Given the description of an element on the screen output the (x, y) to click on. 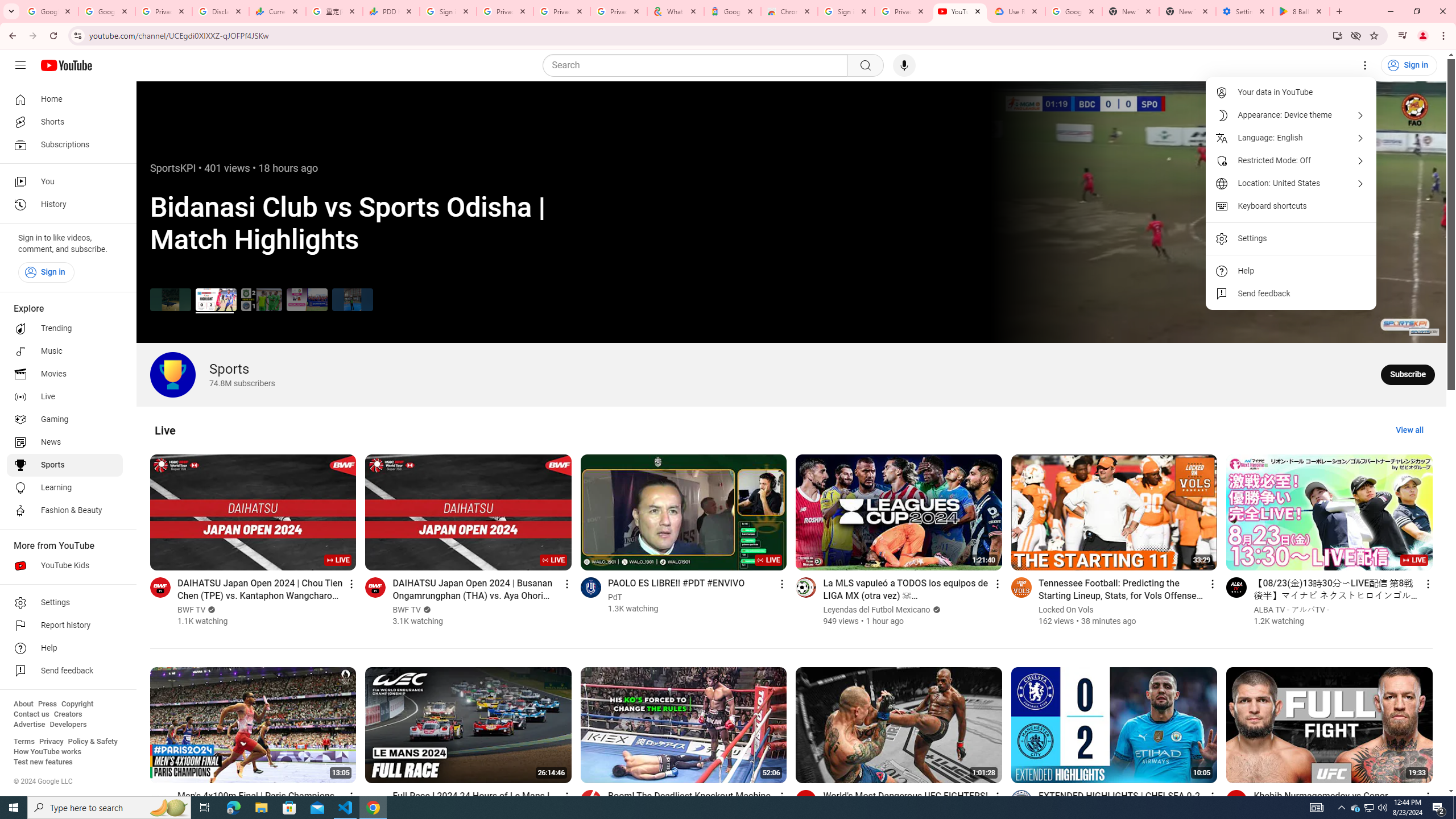
Action menu (1427, 796)
Shorts (64, 121)
Control your music, videos, and more (1402, 35)
Currencies - Google Finance (277, 11)
View all (1409, 430)
YouTube (959, 11)
8 Ball Pool - Apps on Google Play (1301, 11)
Sign in - Google Accounts (447, 11)
Google (731, 11)
Your data in YouTube (1291, 92)
